Given the description of an element on the screen output the (x, y) to click on. 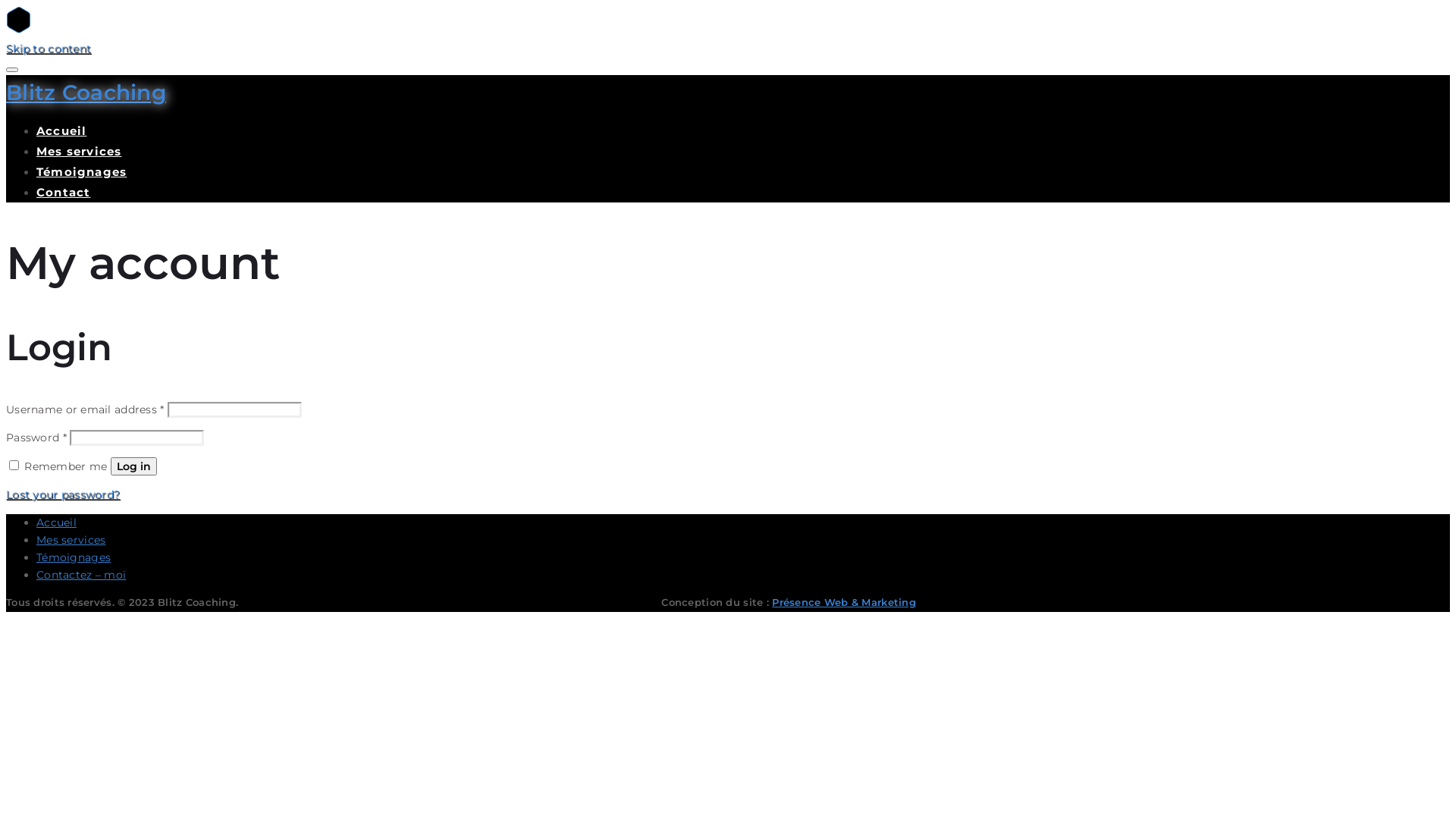
Lost your password? Element type: text (62, 494)
Accueil Element type: text (61, 130)
Blitz Coaching Element type: text (86, 92)
Log in Element type: text (133, 466)
Mes services Element type: text (78, 151)
Skip to content Element type: text (48, 48)
Accueil Element type: text (56, 522)
Mes services Element type: text (70, 539)
Contact Element type: text (63, 192)
